Given the description of an element on the screen output the (x, y) to click on. 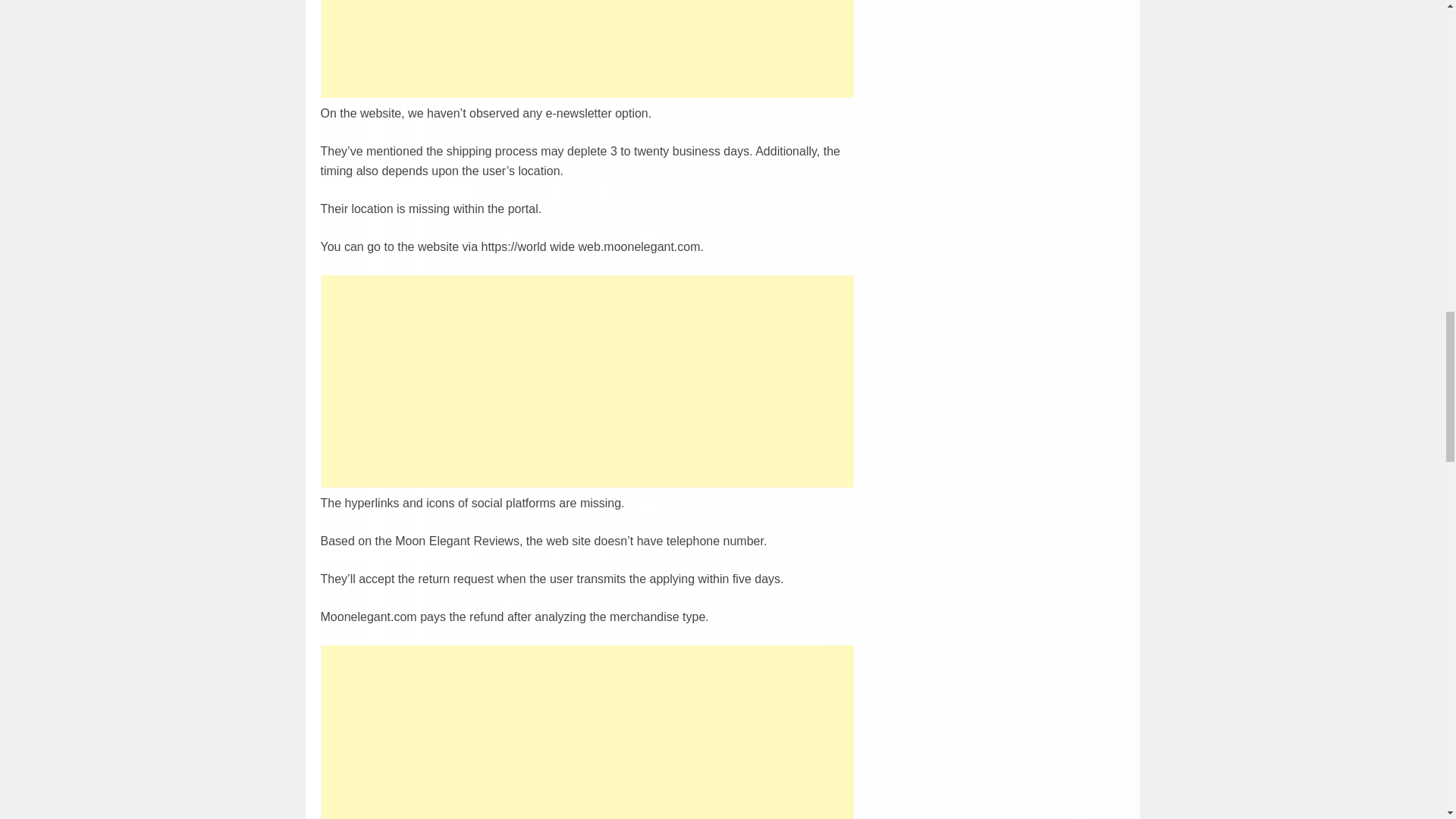
Advertisement (586, 731)
Advertisement (586, 48)
Advertisement (586, 380)
